Given the description of an element on the screen output the (x, y) to click on. 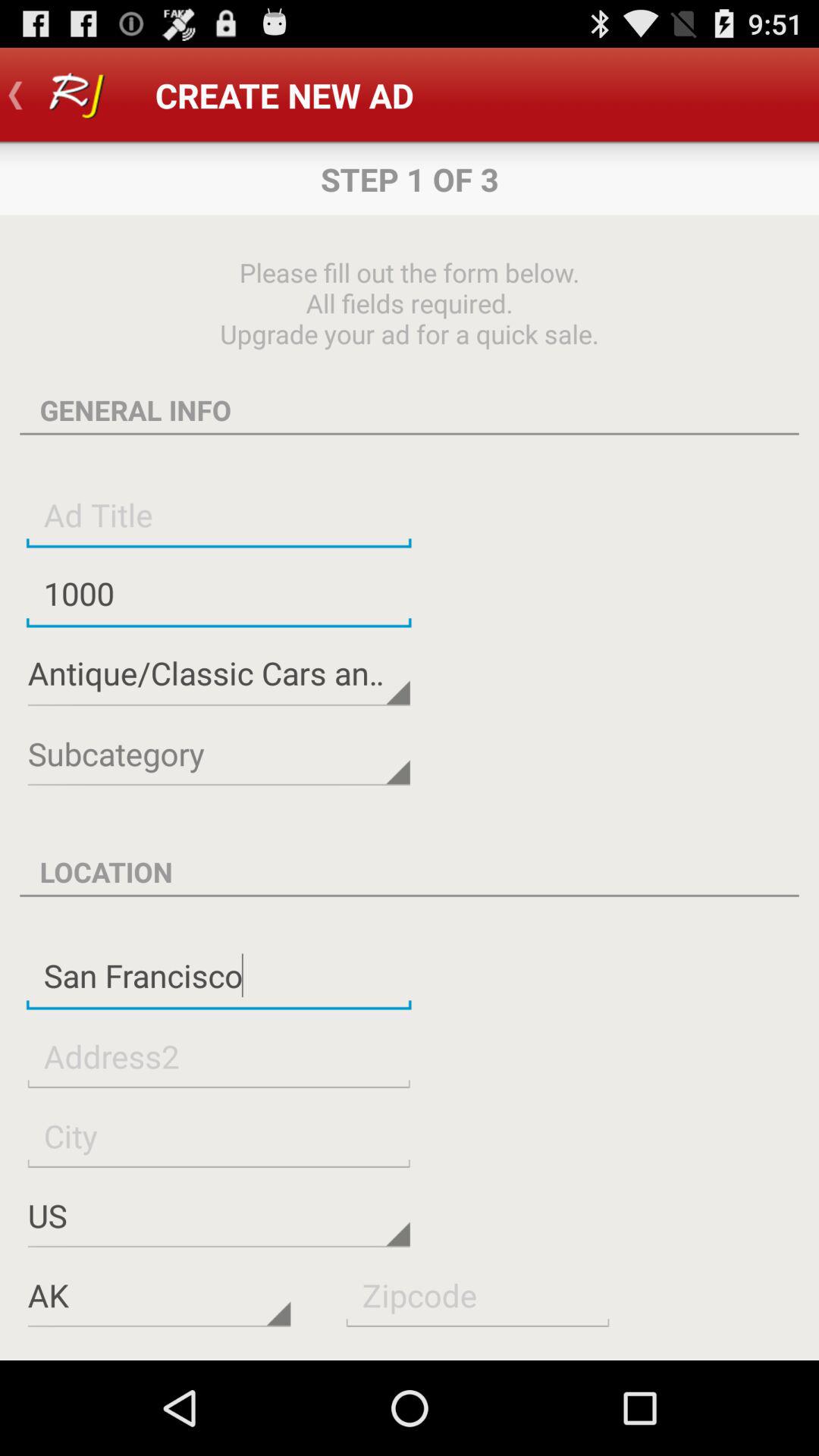
enter advertisement title (218, 514)
